Given the description of an element on the screen output the (x, y) to click on. 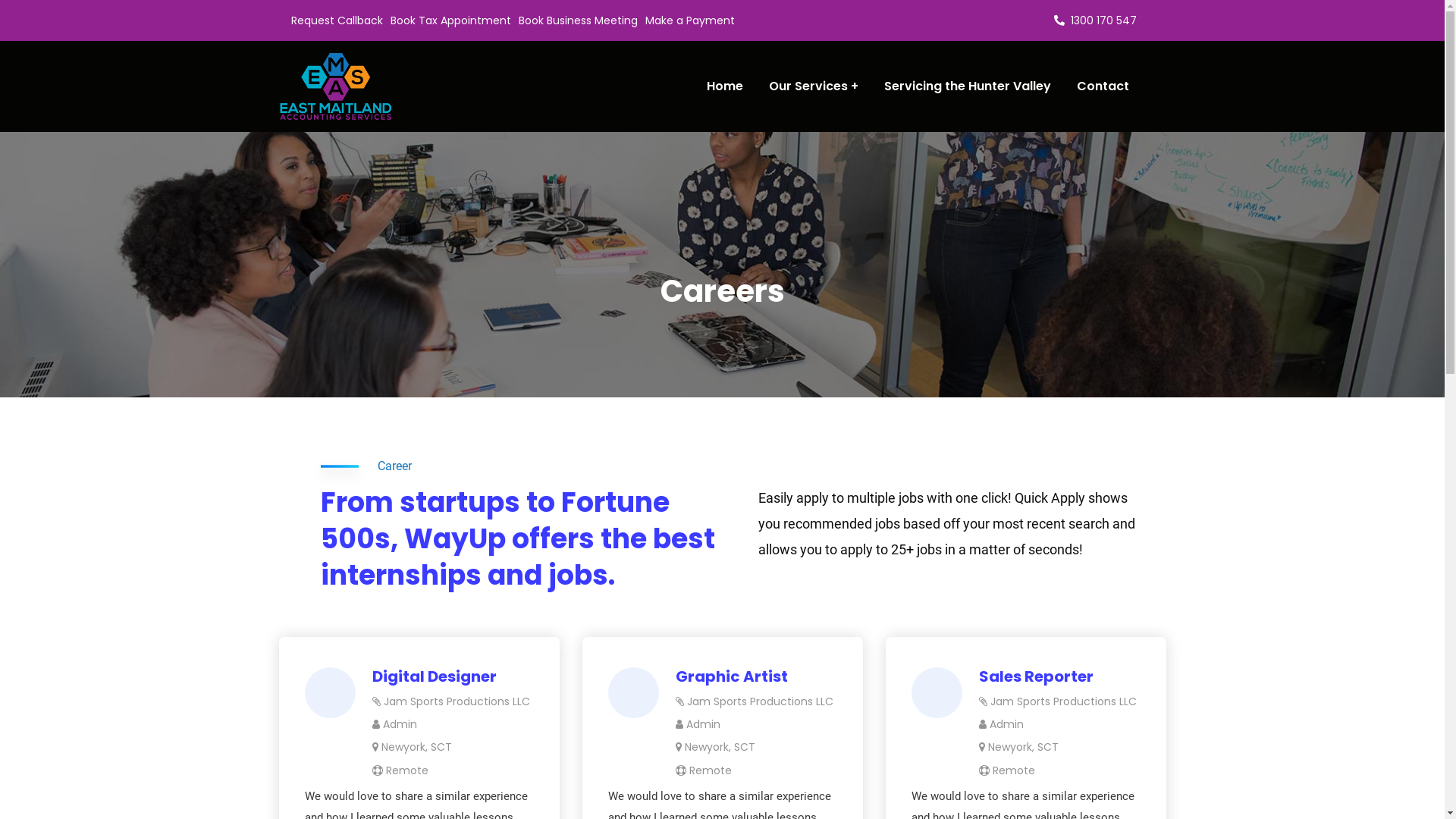
Property Tax Element type: text (575, 545)
Accounting & Taxation Element type: text (855, 545)
Home Element type: text (724, 86)
East Maitland Accountants Element type: hover (335, 86)
Business Systems Element type: text (588, 609)
1300 170 547 Element type: text (330, 584)
1300 170 547 Element type: text (1095, 20)
East Maitland Accounting Element type: text (798, 795)
Bookkeeping & Management Accounting Element type: text (651, 577)
02 4027 5389 Element type: text (333, 610)
Request Callback Element type: text (336, 20)
Servicing the Hunter Valley Element type: text (967, 86)
Book Business Meeting Element type: text (577, 20)
Contact Element type: text (564, 641)
Make a Payment Element type: text (689, 20)
Payroll Assistance Element type: text (841, 577)
Book Tax Appointment Element type: text (449, 20)
Our Services Element type: text (827, 513)
Our Services Element type: text (813, 86)
Servicing the Hunter Valley Element type: text (865, 609)
Home Element type: text (558, 513)
Contact Element type: text (1102, 86)
